Given the description of an element on the screen output the (x, y) to click on. 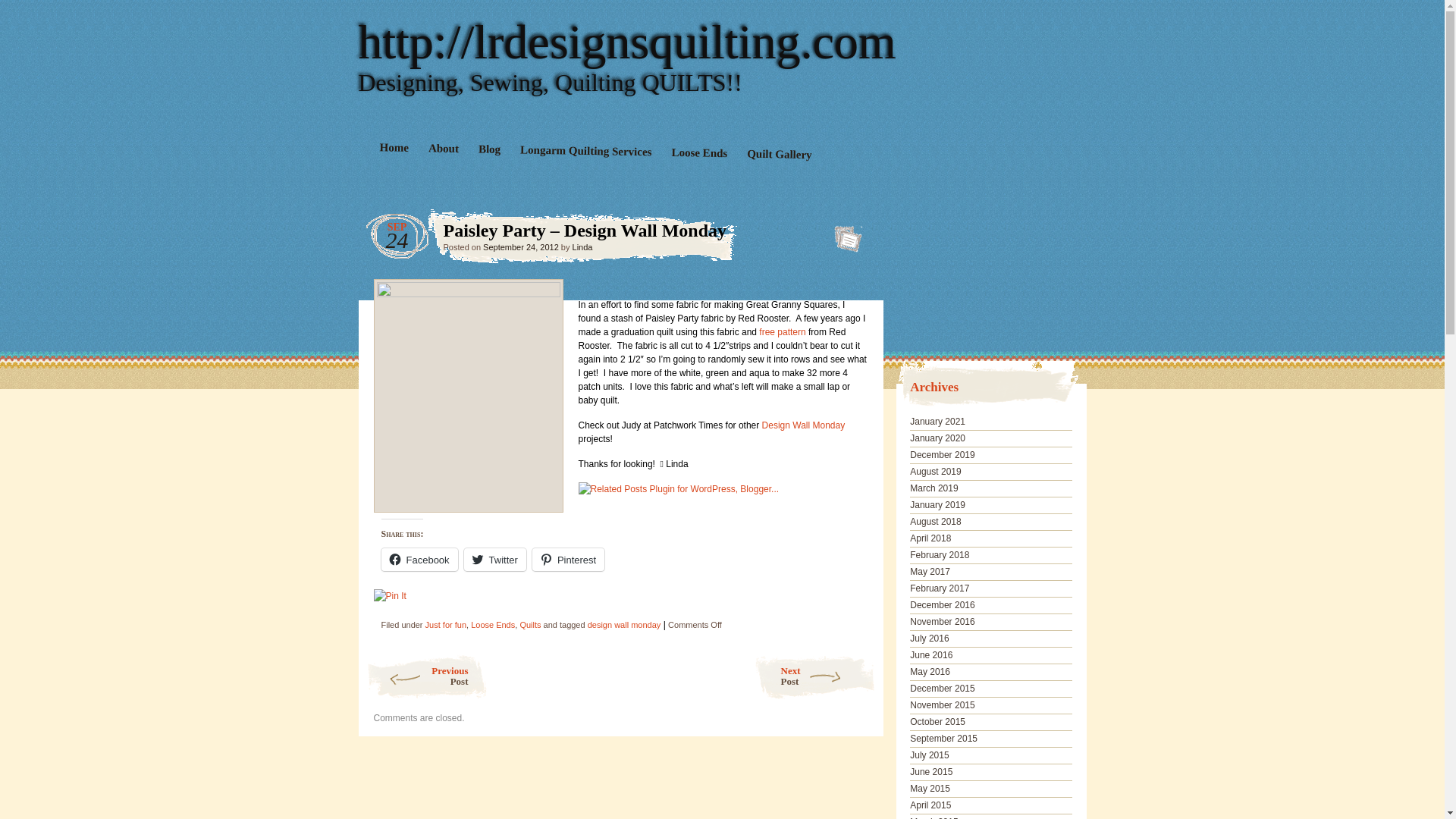
Twitter (494, 558)
About (442, 149)
Design Wall Monday (803, 425)
Quilts (529, 624)
January 2019 (937, 504)
Linda (582, 246)
August 2018 (935, 521)
March 2019 (934, 488)
Loose Ends (492, 624)
Loose Ends (698, 154)
January 2021 (937, 421)
August 2019 (935, 471)
Click to share on Twitter (494, 558)
Click to share on Facebook (418, 558)
Quilt Gallery (778, 155)
